Given the description of an element on the screen output the (x, y) to click on. 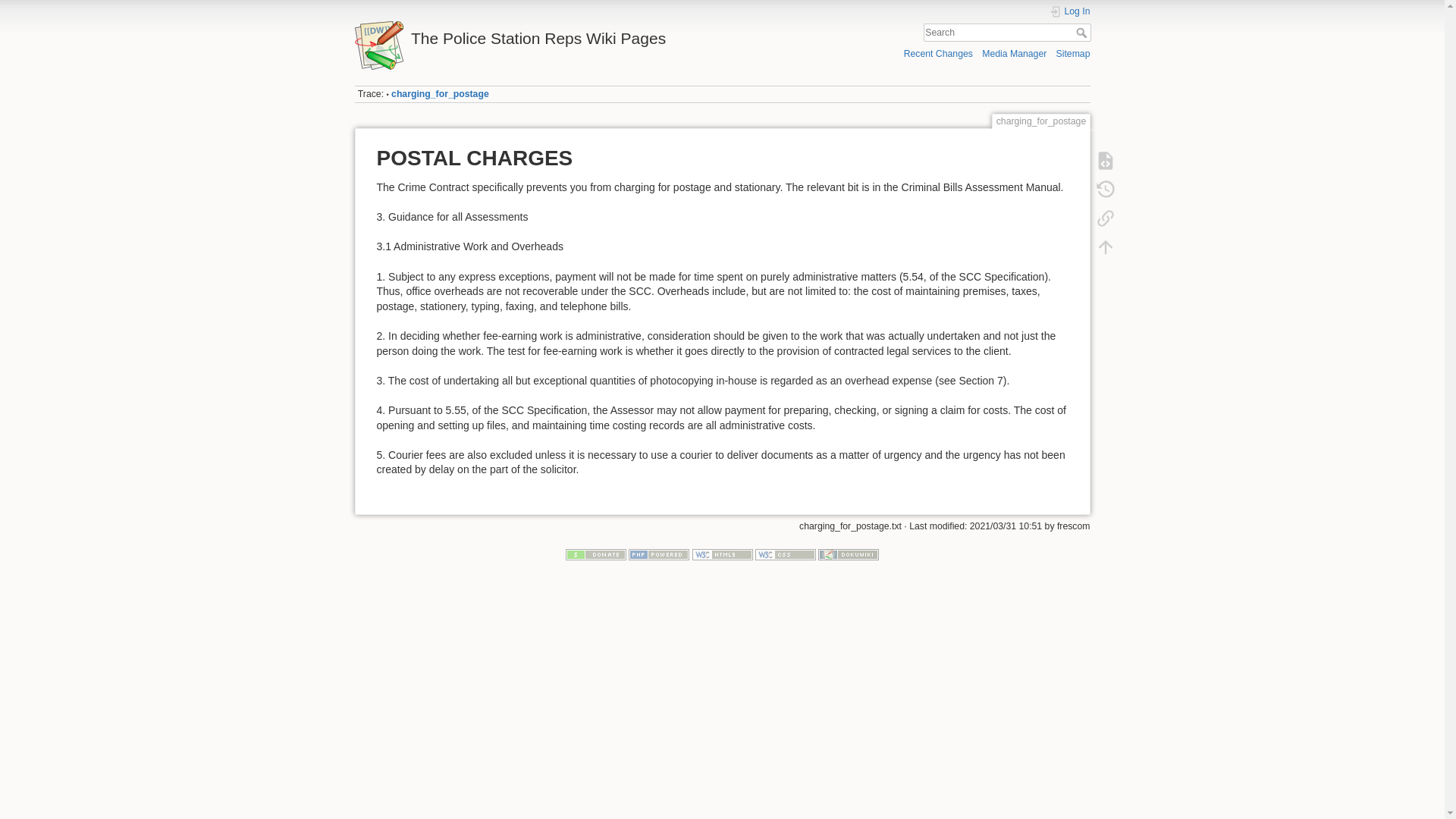
Donate (596, 552)
Media Manager (1013, 53)
Backlinks (1104, 217)
Search (1082, 32)
Log In (1069, 11)
Search (1082, 32)
Sitemap (1073, 53)
Recent Changes (938, 53)
Log In (1069, 11)
The Police Station Reps Wiki Pages (534, 34)
Media Manager (1013, 53)
